Given the description of an element on the screen output the (x, y) to click on. 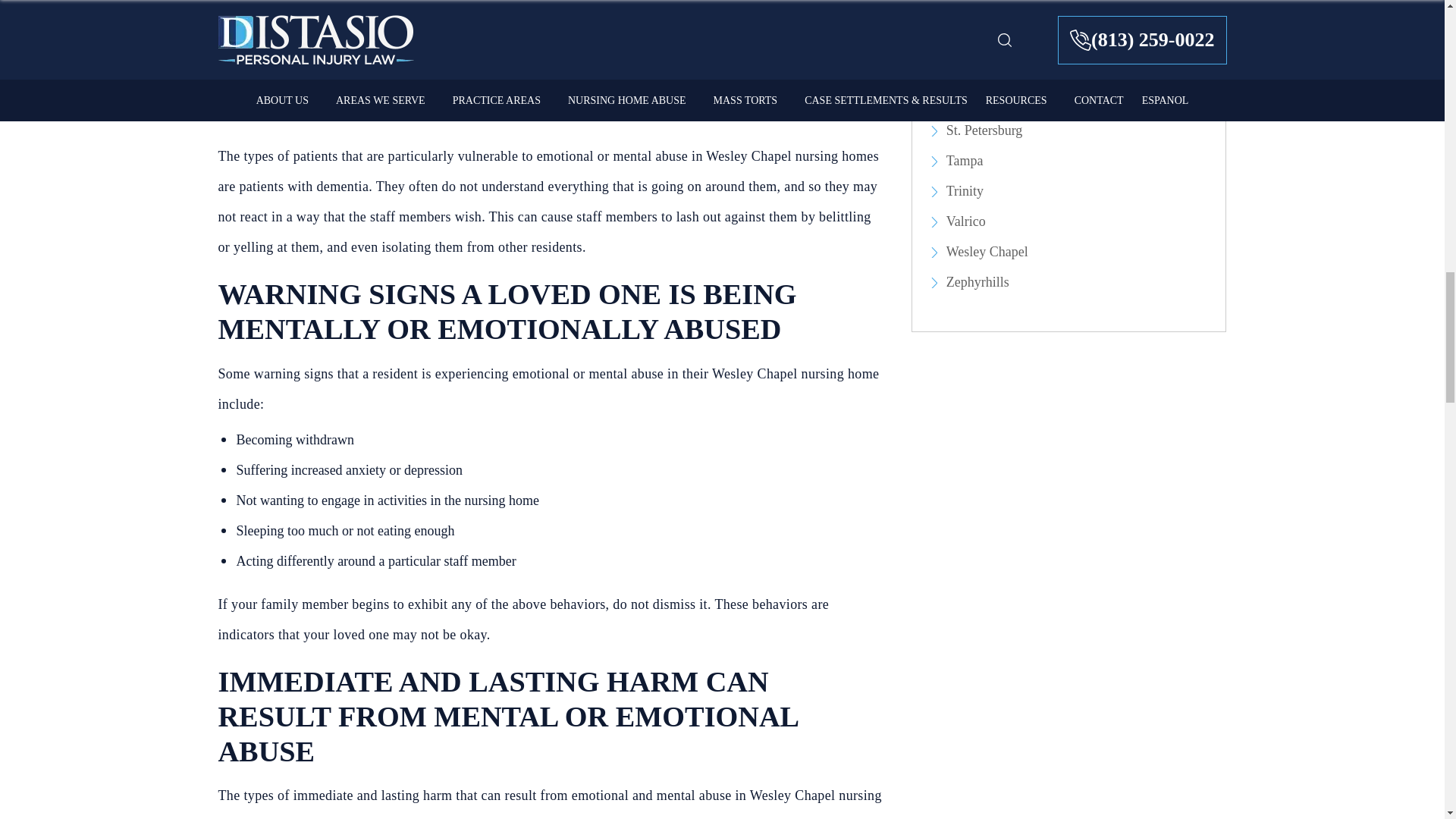
Mental or Emotional Abuse in Wesley Chapel Nursing Homes 1 (550, 28)
